Given the description of an element on the screen output the (x, y) to click on. 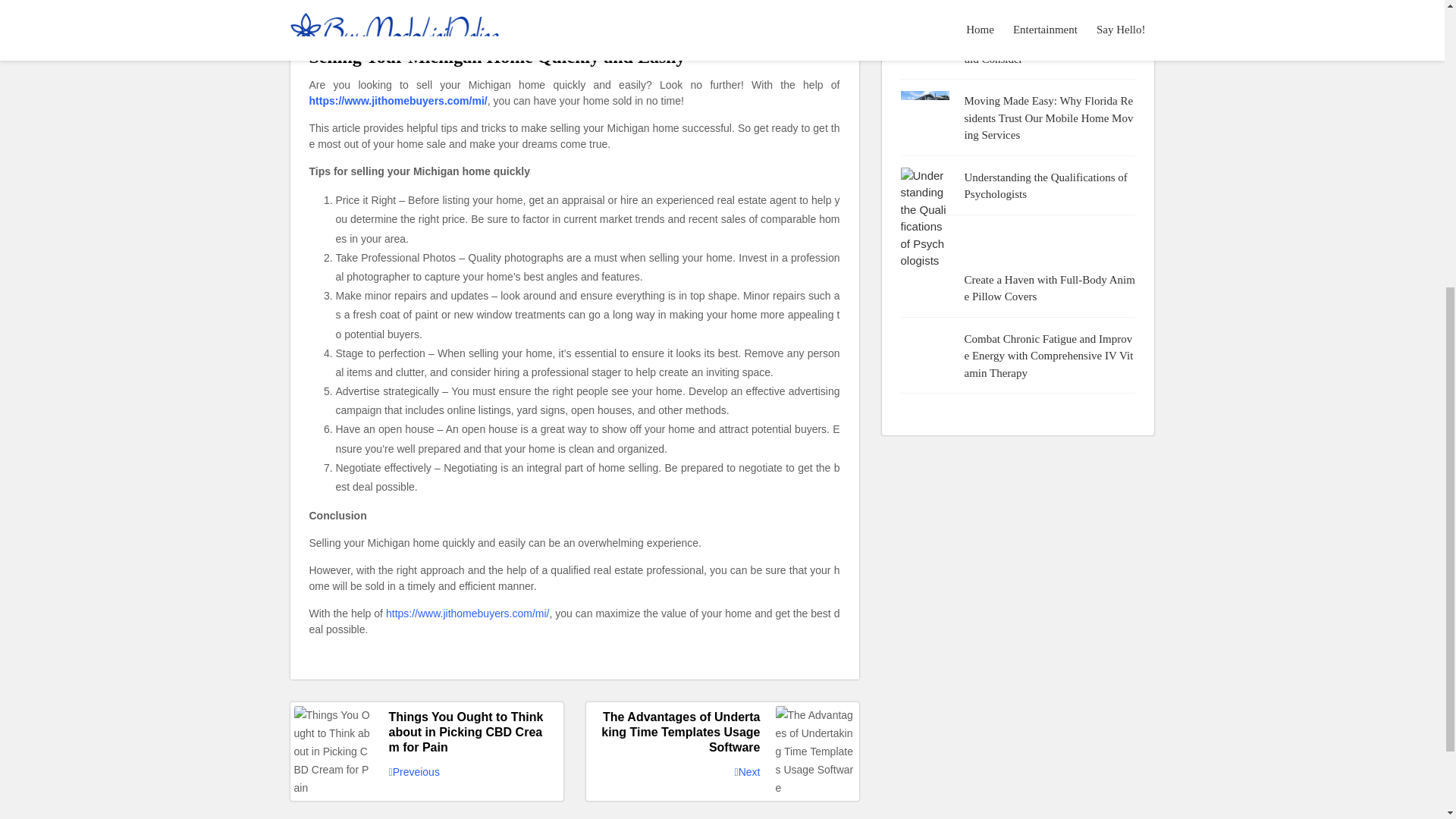
Understanding the Qualifications of Psychologists (1049, 185)
Real Estate (339, 35)
Preveious (413, 772)
Kitchen Remodeling Trends You Should Consider (1049, 50)
The Advantages of Undertaking Time Templates Usage Software (721, 732)
Next (747, 772)
Create a Haven with Full-Body Anime Pillow Covers (1049, 288)
